Given the description of an element on the screen output the (x, y) to click on. 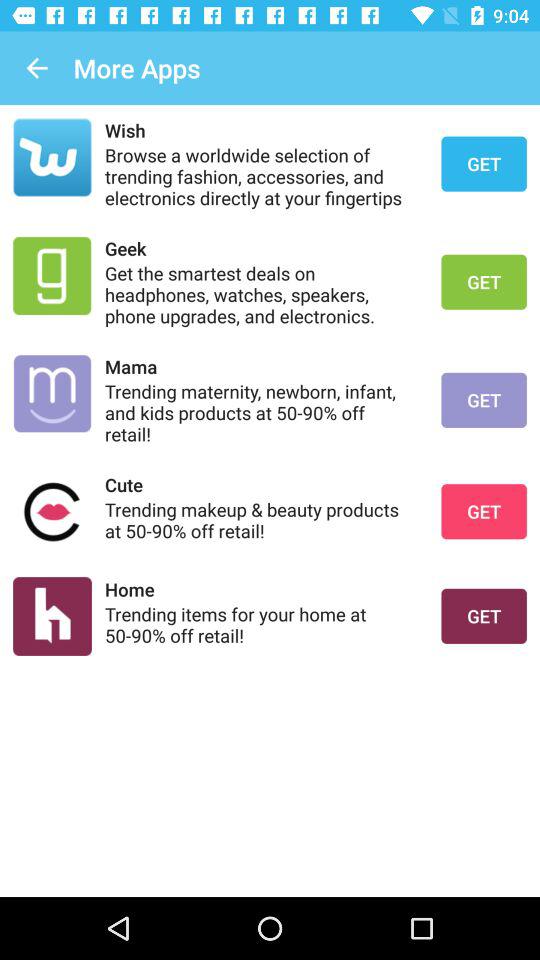
launch the icon below get the smartest (260, 366)
